Given the description of an element on the screen output the (x, y) to click on. 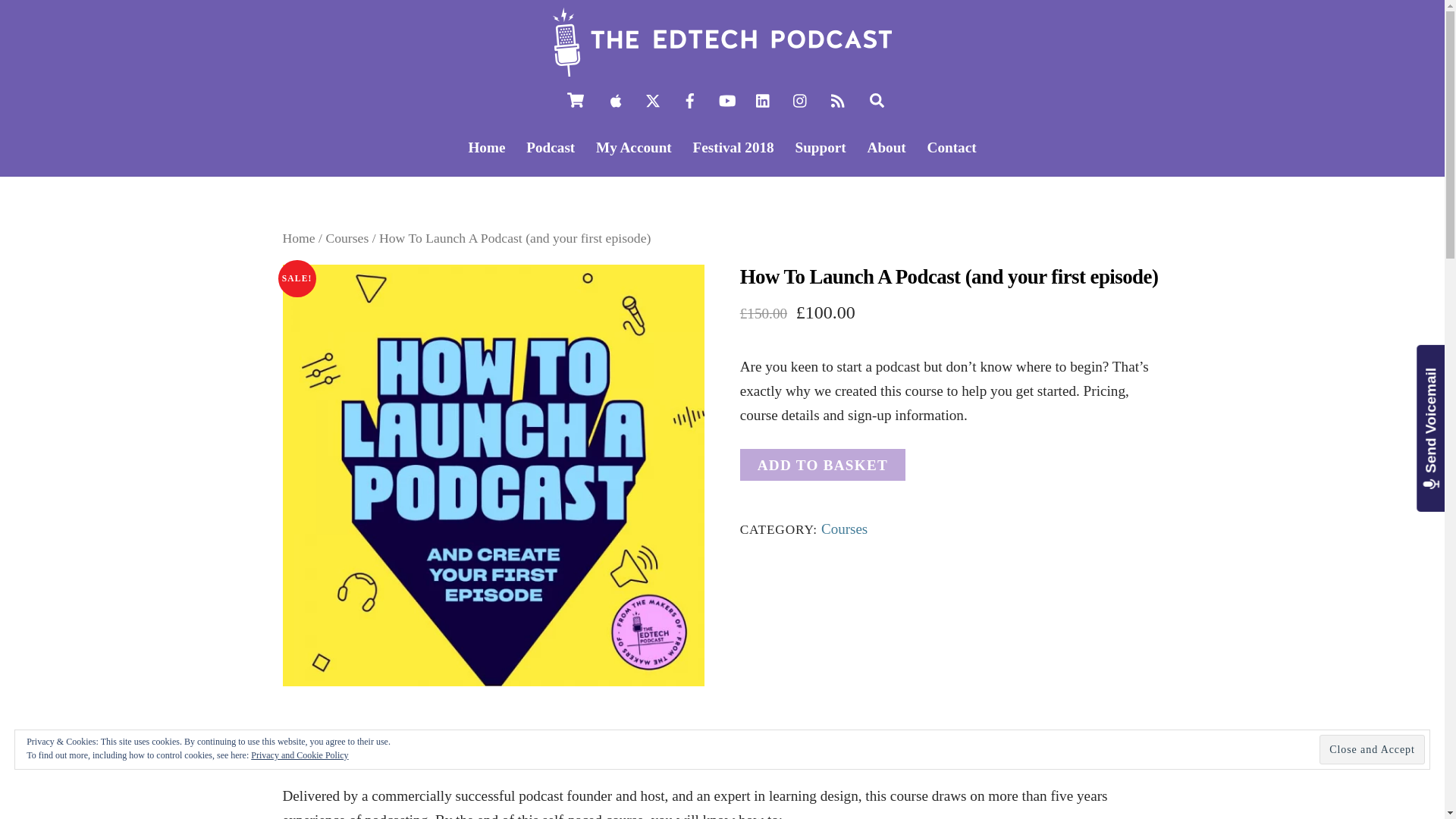
ADD TO BASKET (822, 464)
Cart (575, 100)
Podcast (550, 147)
Contact (951, 147)
Close and Accept (1372, 749)
Courses (346, 237)
Festival 2018 (733, 147)
Home (298, 237)
